Given the description of an element on the screen output the (x, y) to click on. 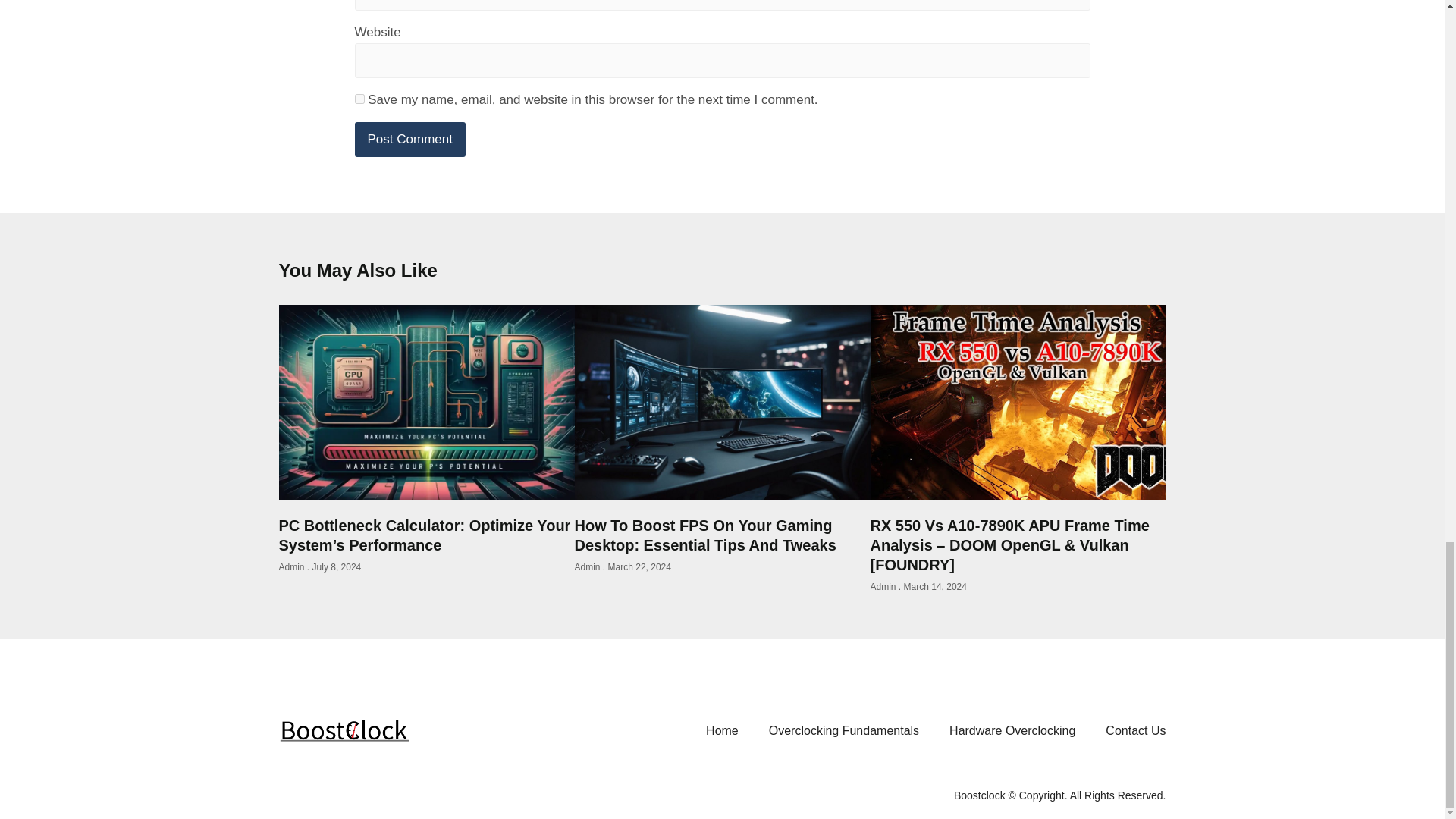
Hardware Overclocking (1012, 730)
Home (722, 730)
Post Comment (410, 139)
Post Comment (410, 139)
Contact Us (1135, 730)
Overclocking Fundamentals (844, 730)
yes (360, 99)
